Given the description of an element on the screen output the (x, y) to click on. 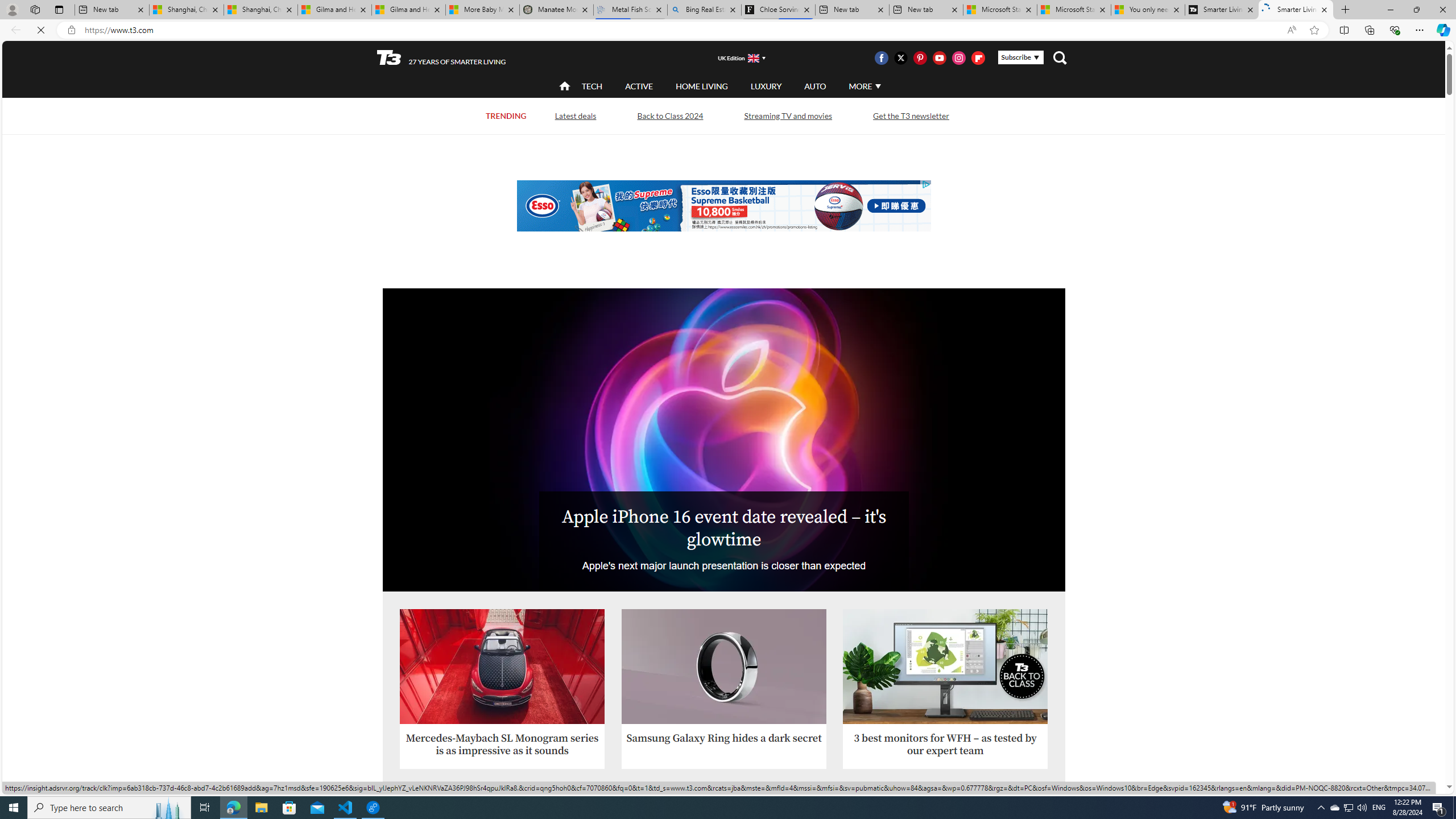
T3 27 YEARS OF SMARTER LIVING (441, 57)
AUTO (815, 86)
HOME LIVING (701, 85)
Samsung Galaxy Ring Samsung Galaxy Ring hides a dark secret (724, 677)
TECH (591, 86)
Manatee Mortality Statistics | FWC (556, 9)
